Given the description of an element on the screen output the (x, y) to click on. 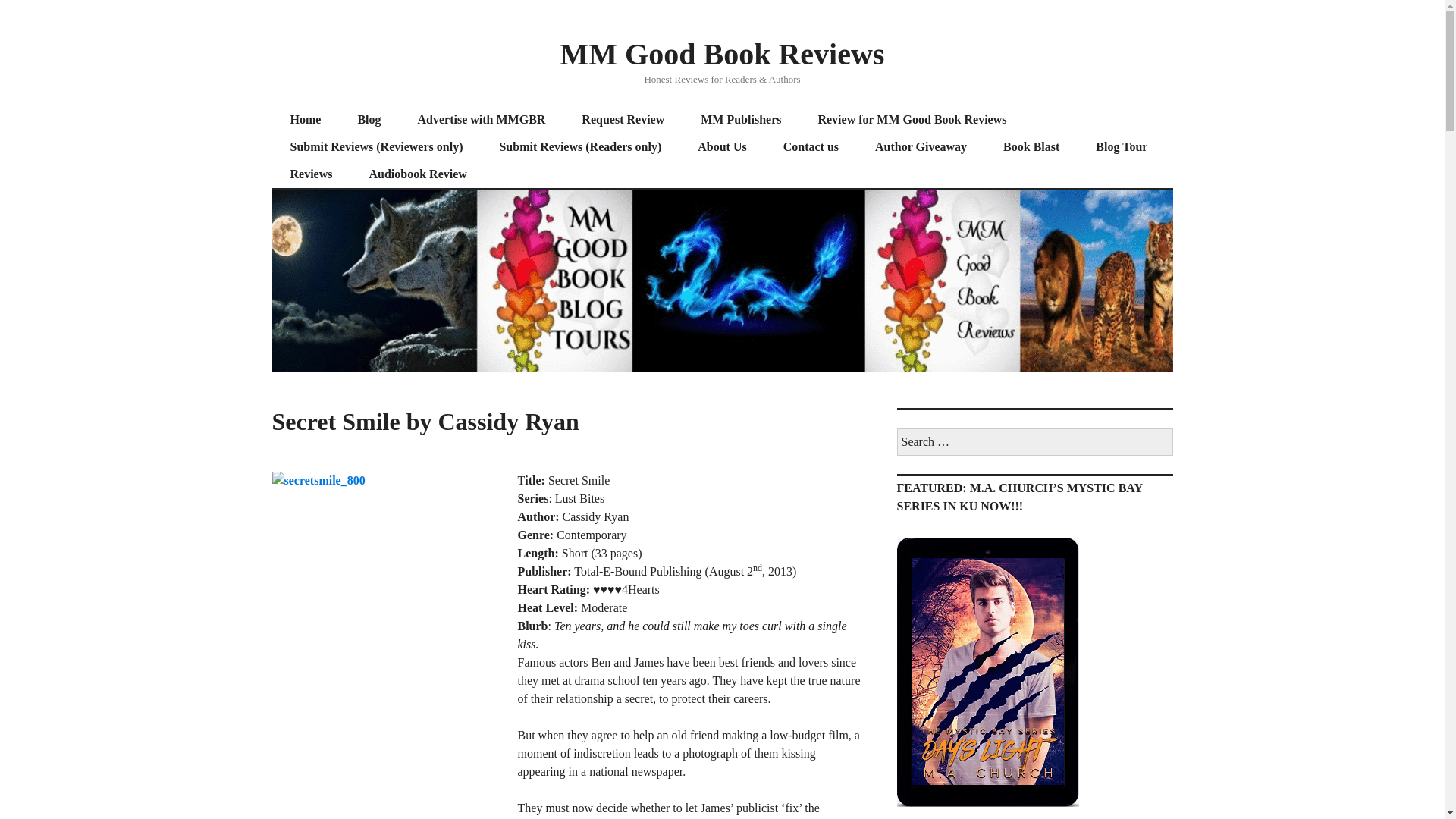
Blog (368, 119)
Contact us (811, 146)
About Us (721, 146)
MM Publishers (740, 119)
Review for MM Good Book Reviews (912, 119)
Home (304, 119)
Audiobook Review (417, 174)
Author Giveaway (921, 146)
Advertise with MMGBR (480, 119)
Blog Tour (1121, 146)
